Given the description of an element on the screen output the (x, y) to click on. 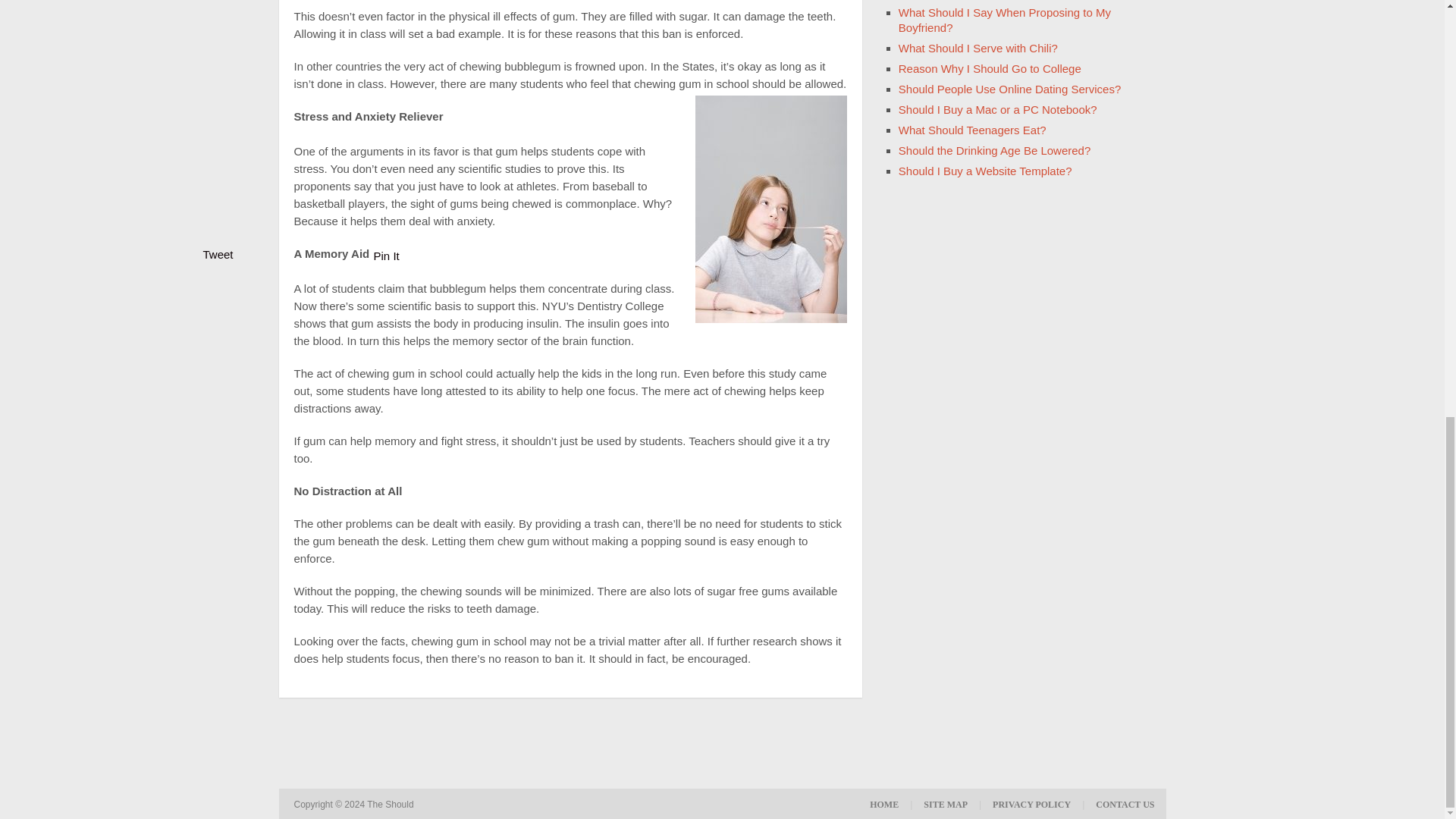
Should I Buy a Website Template? (984, 170)
Should I Buy a Mac or a PC Notebook? (997, 109)
Should the Drinking Age Be Lowered? (994, 150)
What Should I Serve with Chili? (978, 47)
What Should Teenagers Eat? (972, 129)
Should People Use Online Dating Services? (1009, 88)
What Should I Say When Proposing to My Boyfriend? (1004, 19)
Reason Why I Should Go to College (989, 68)
Should Guide (391, 803)
